Given the description of an element on the screen output the (x, y) to click on. 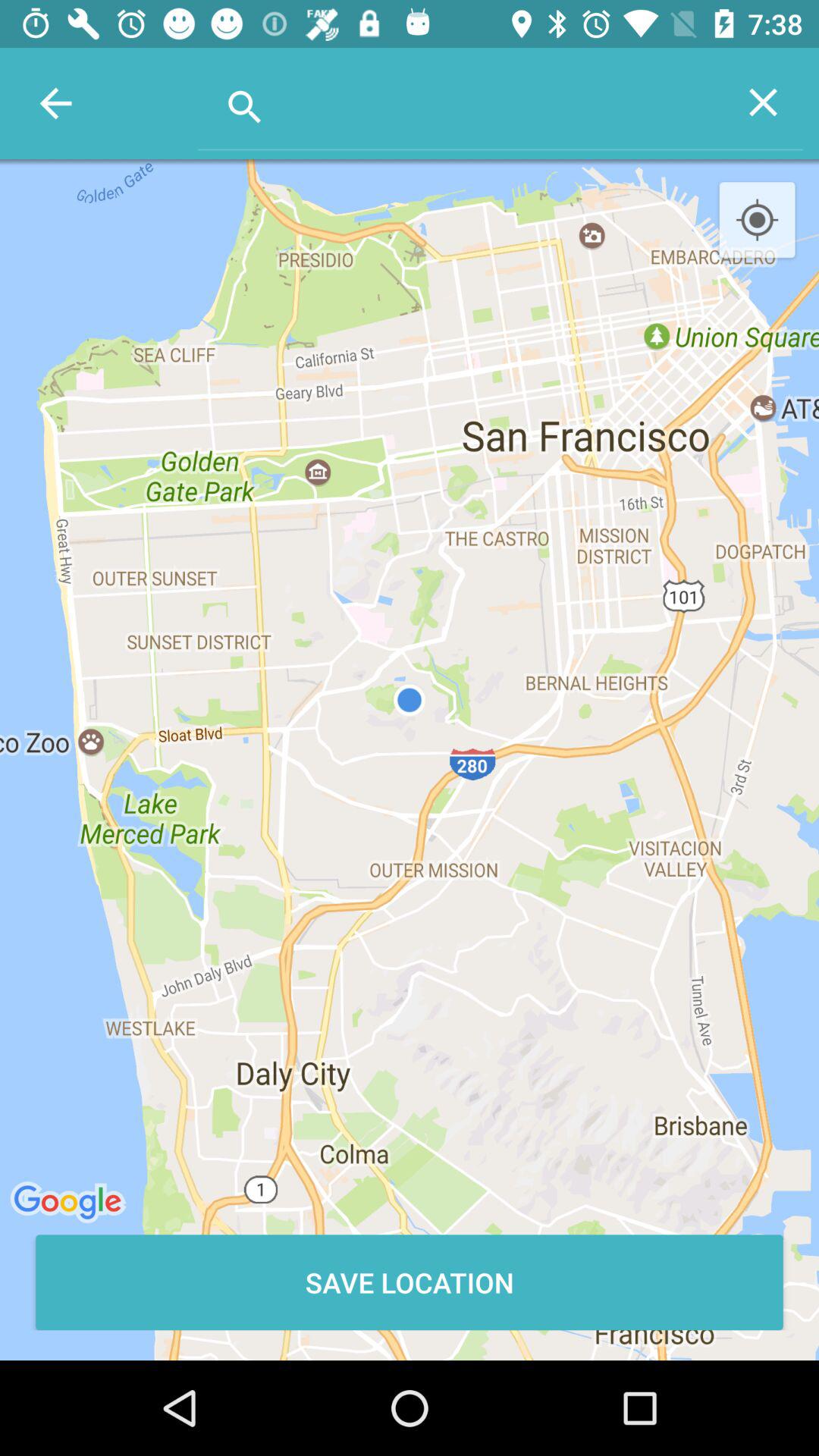
input search (460, 102)
